Given the description of an element on the screen output the (x, y) to click on. 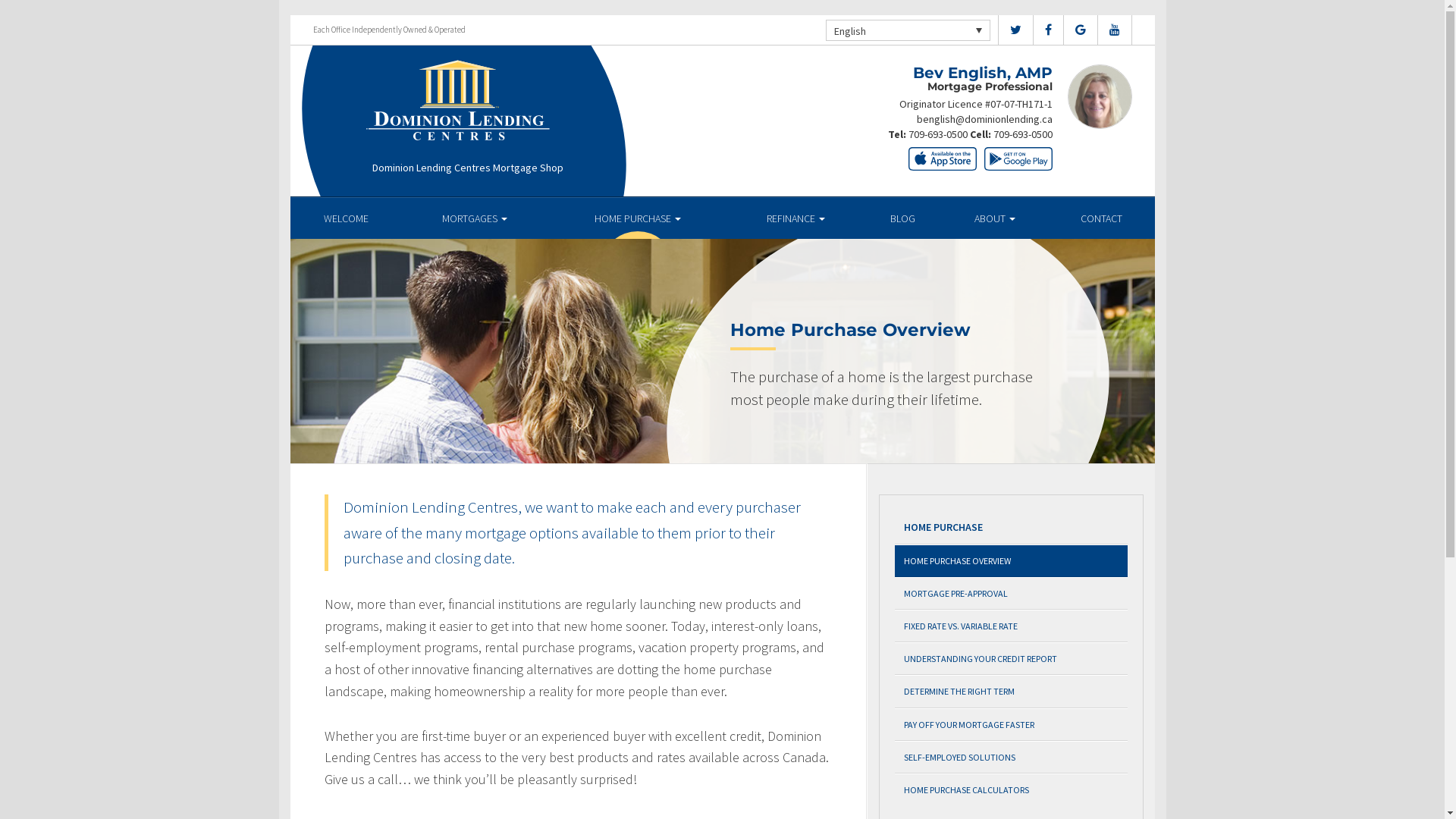
FIXED RATE VS. VARIABLE RATE Element type: text (1010, 625)
HOME PURCHASE Element type: text (1010, 527)
MORTGAGE PRE-APPROVAL Element type: text (1010, 593)
HOME PURCHASE Element type: text (637, 217)
BLOG Element type: text (901, 217)
ABOUT Element type: text (994, 217)
benglish@dominionlending.ca Element type: text (983, 118)
WELCOME Element type: text (345, 217)
HOME PURCHASE OVERVIEW Element type: text (1010, 560)
SELF-EMPLOYED SOLUTIONS Element type: text (1010, 756)
CONTACT Element type: text (1101, 217)
MORTGAGES Element type: text (474, 217)
DETERMINE THE RIGHT TERM Element type: text (1010, 690)
709-693-0500 Element type: text (1022, 134)
UNDERSTANDING YOUR CREDIT REPORT Element type: text (1010, 658)
709-693-0500 Element type: text (937, 134)
PAY OFF YOUR MORTGAGE FASTER Element type: text (1010, 724)
English Element type: text (907, 29)
REFINANCE Element type: text (795, 217)
HOME PURCHASE CALCULATORS Element type: text (1010, 789)
